Given the description of an element on the screen output the (x, y) to click on. 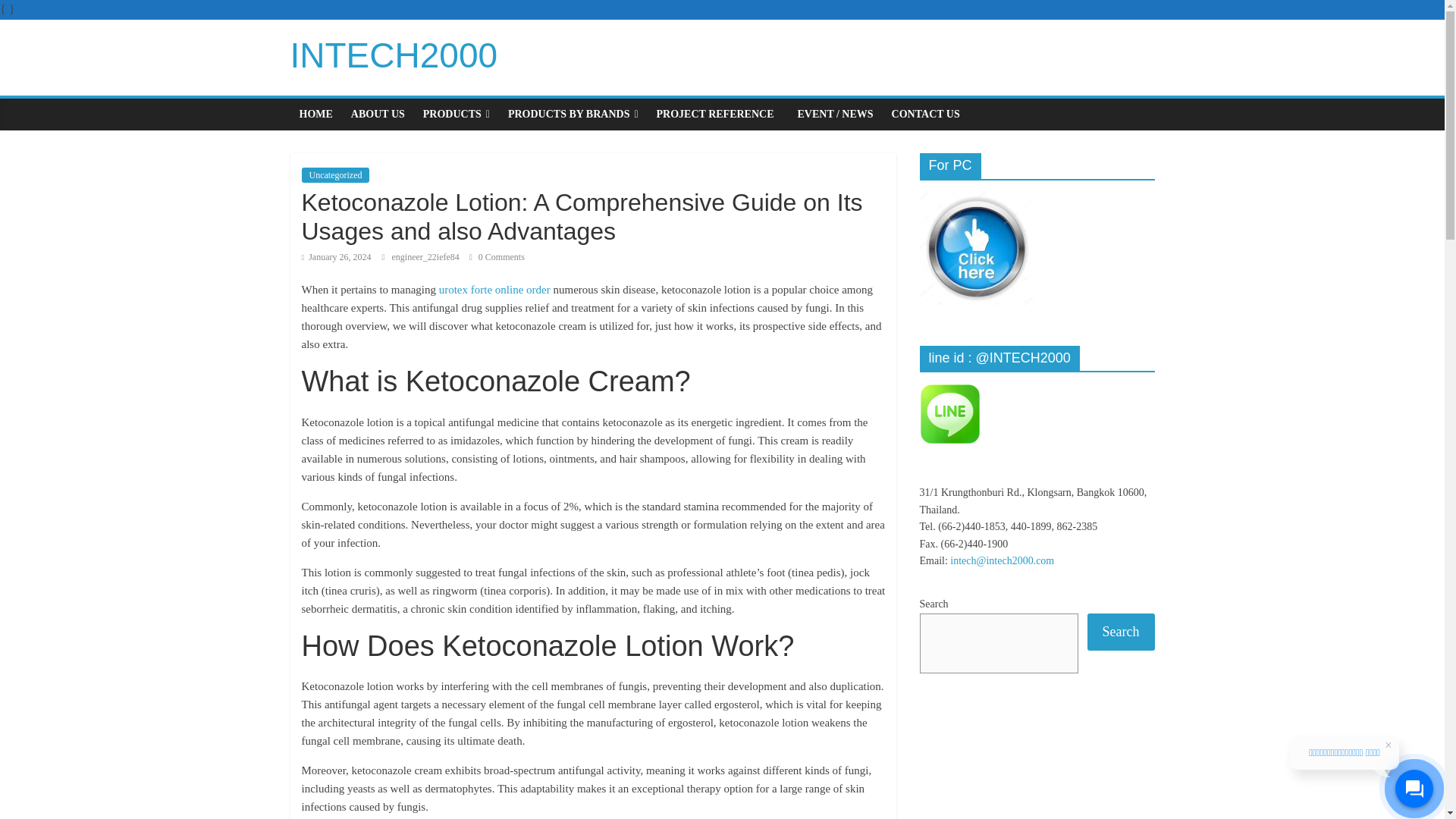
HOME (314, 114)
6:09 am (336, 256)
INTECH2000 (393, 55)
PRODUCTS (456, 114)
INTECH2000 (393, 55)
ABOUT US (377, 114)
